Given the description of an element on the screen output the (x, y) to click on. 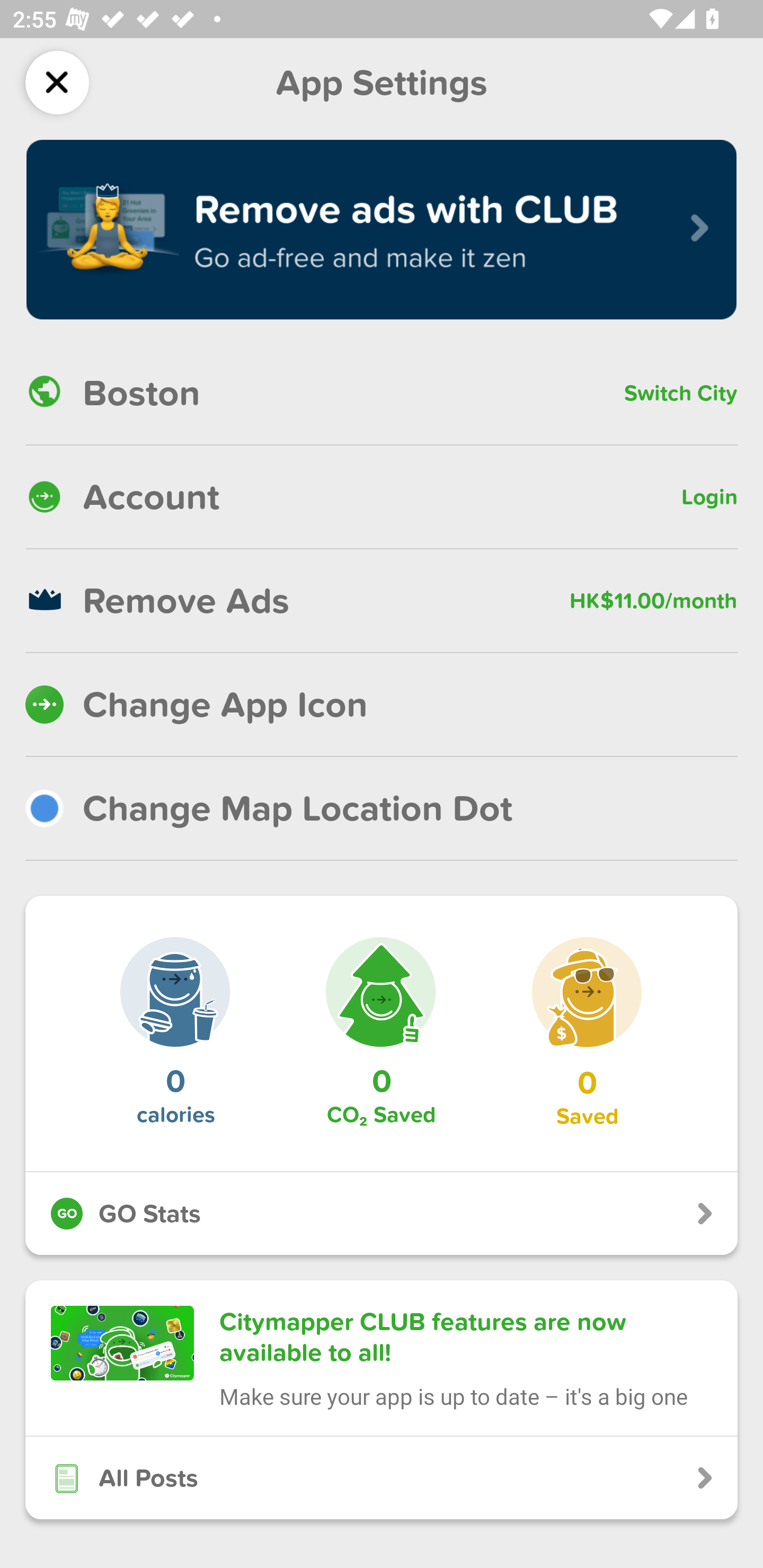
Boston Switch City (381, 392)
